Given the description of an element on the screen output the (x, y) to click on. 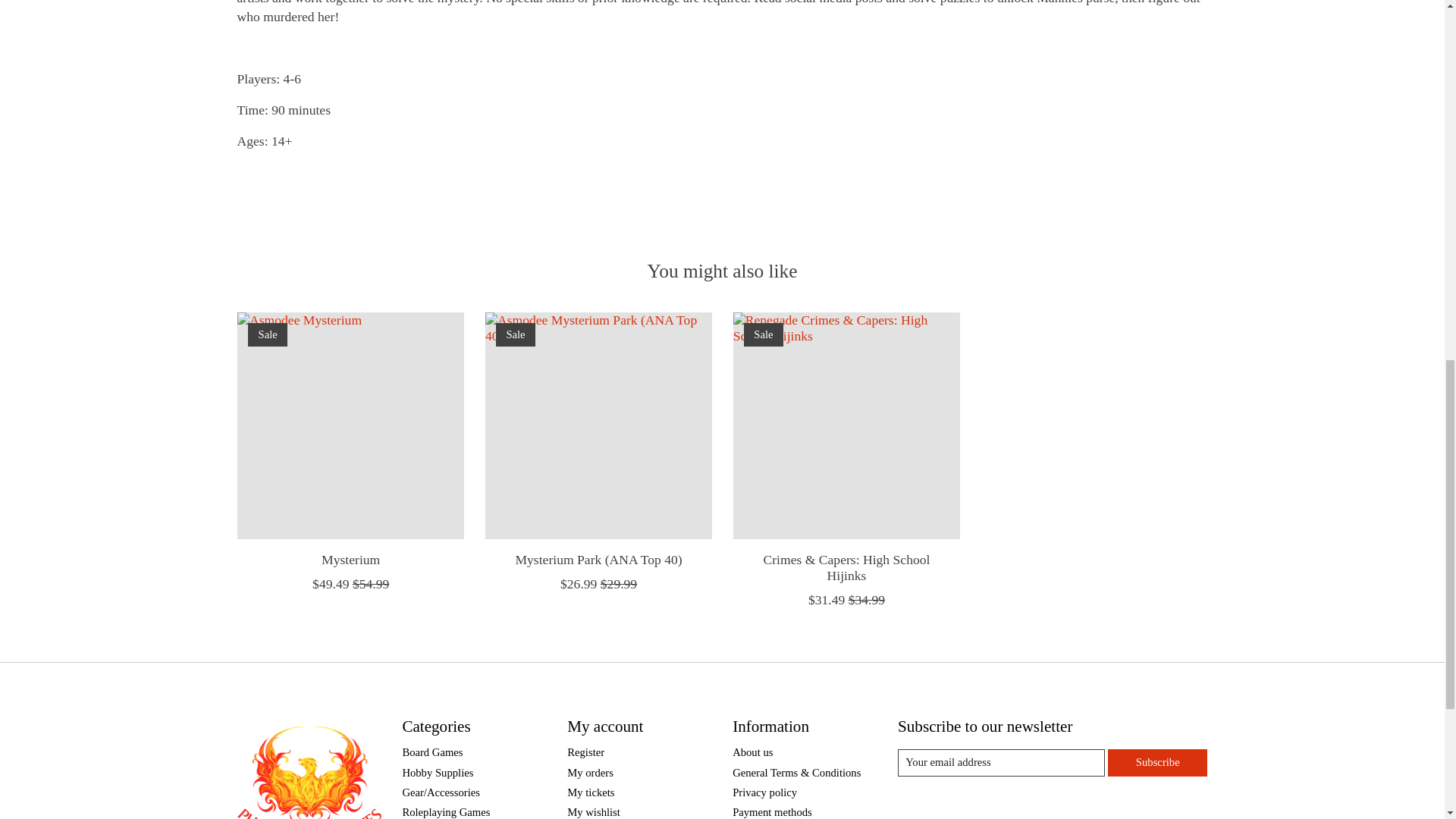
About us (752, 752)
My tickets (590, 792)
My wishlist (593, 811)
Register (585, 752)
Payment methods (772, 811)
Asmodee Mysterium (349, 425)
Privacy policy (764, 792)
My orders (589, 771)
